Given the description of an element on the screen output the (x, y) to click on. 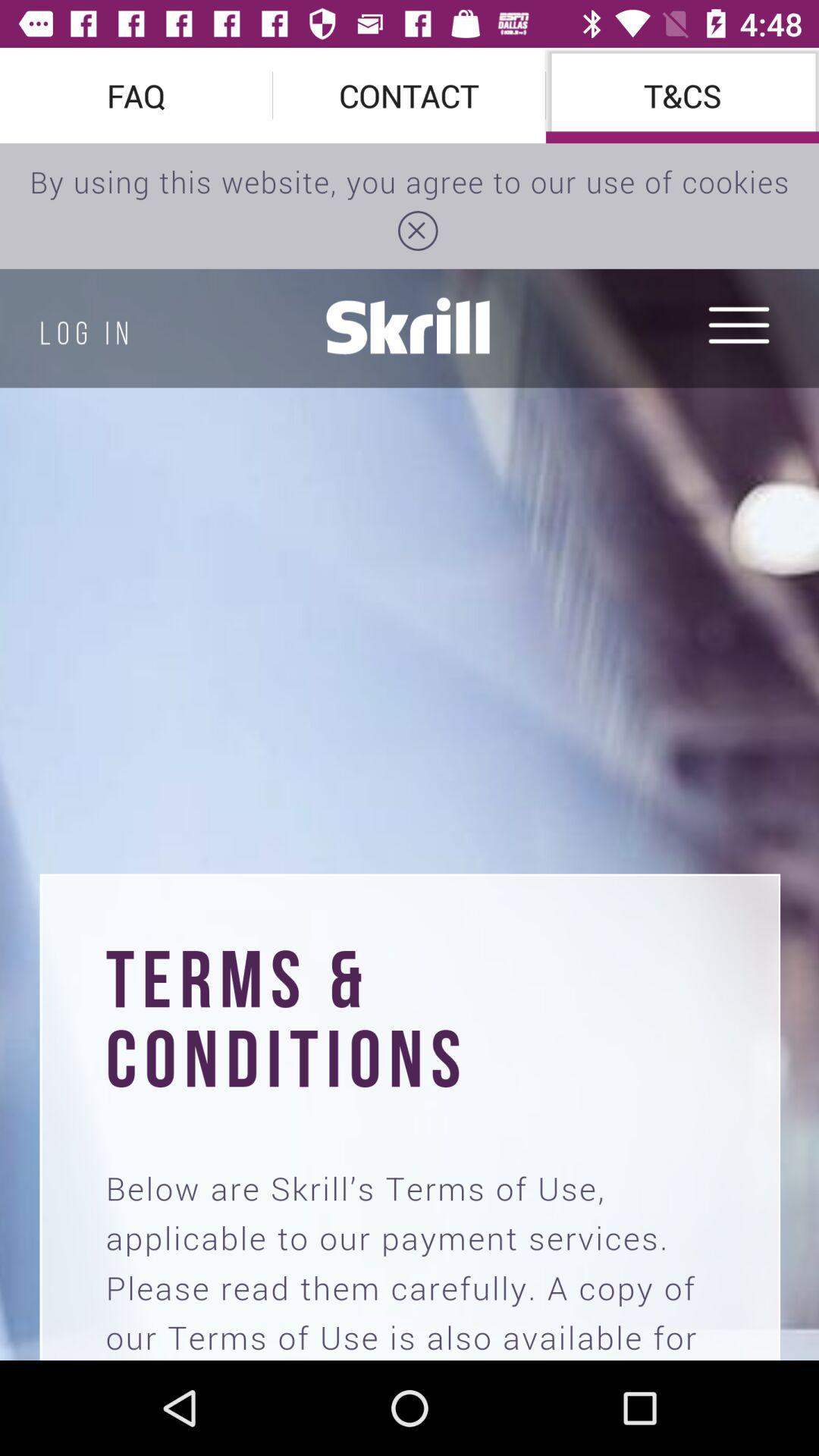
share the article (409, 751)
